Given the description of an element on the screen output the (x, y) to click on. 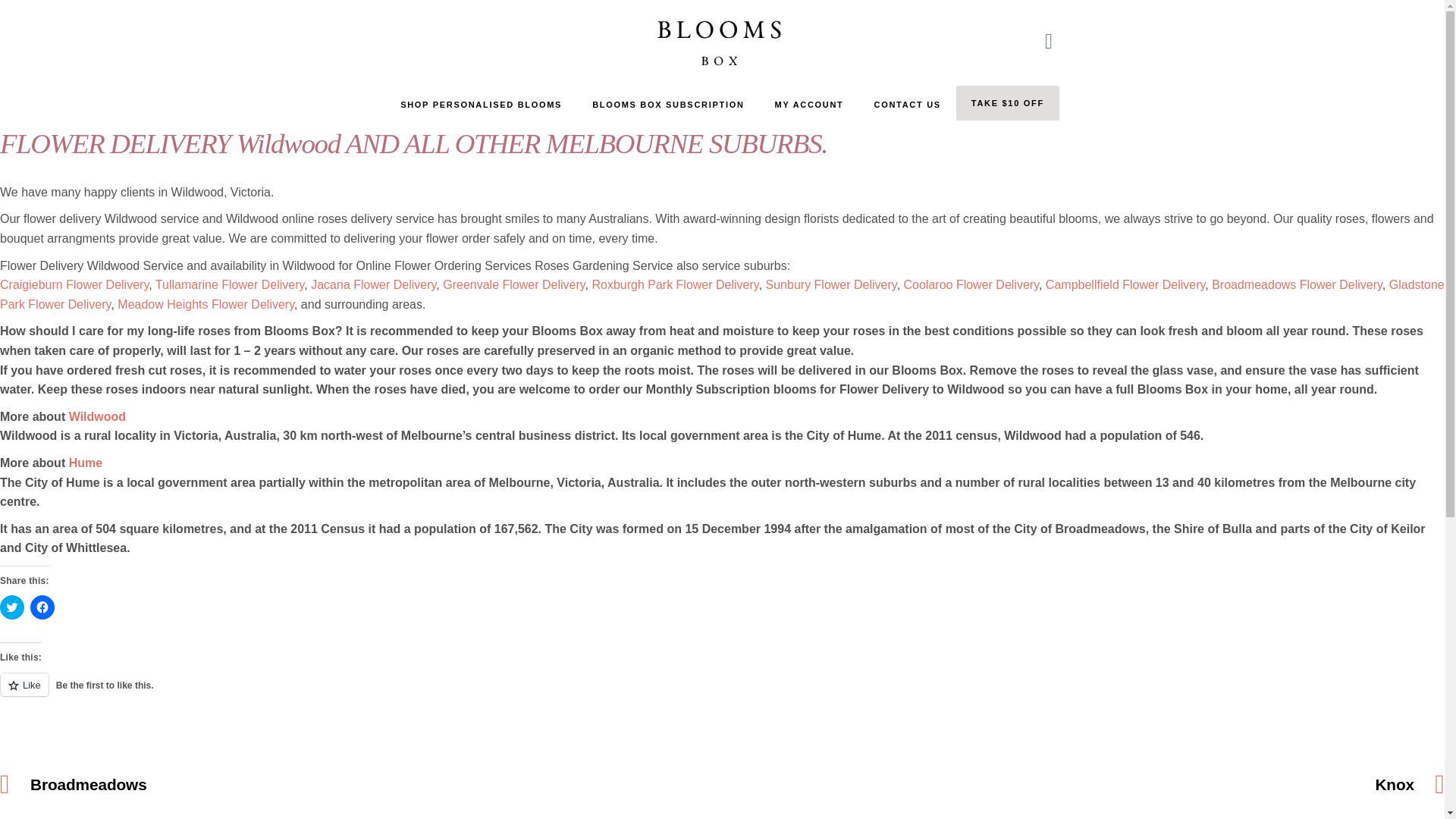
Hume (84, 462)
MY ACCOUNT (809, 104)
BLOOMS BOX SUBSCRIPTION (667, 104)
Meadow Heights Flower Delivery (205, 304)
SHOP PERSONALISED BLOOMS (480, 104)
Broadmeadows Flower Delivery (1296, 284)
Coolaroo Flower Delivery (971, 284)
Campbellfield Flower Delivery (1125, 284)
Tullamarine Flower Delivery (229, 284)
Click to share on Twitter (12, 607)
Sunbury Flower Delivery (830, 284)
Click to share on Facebook (42, 607)
Wildwood (96, 416)
Roxburgh Park Flower Delivery (674, 284)
Jacana Flower Delivery (373, 284)
